Given the description of an element on the screen output the (x, y) to click on. 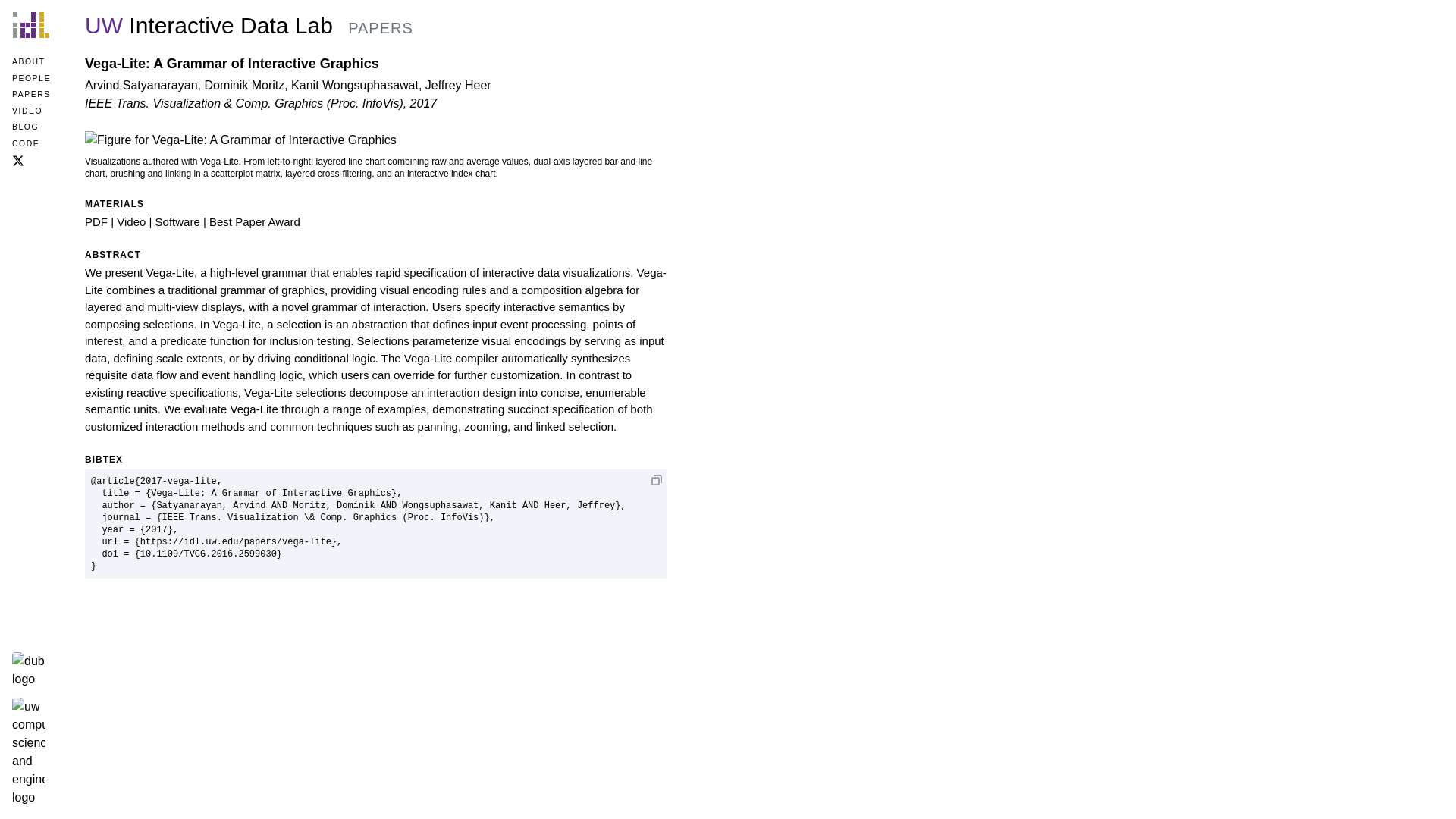
PAPERS (30, 94)
CODE (30, 143)
VIDEO (30, 111)
Arvind Satyanarayan (141, 84)
Kanit Wongsuphasawat (355, 84)
PDF (95, 221)
Jeffrey Heer (458, 84)
PEOPLE (30, 78)
Dominik Moritz (243, 84)
Copy BibTeX citation (656, 479)
Video (130, 221)
Software (177, 221)
ABOUT (30, 61)
BLOG (30, 127)
